Given the description of an element on the screen output the (x, y) to click on. 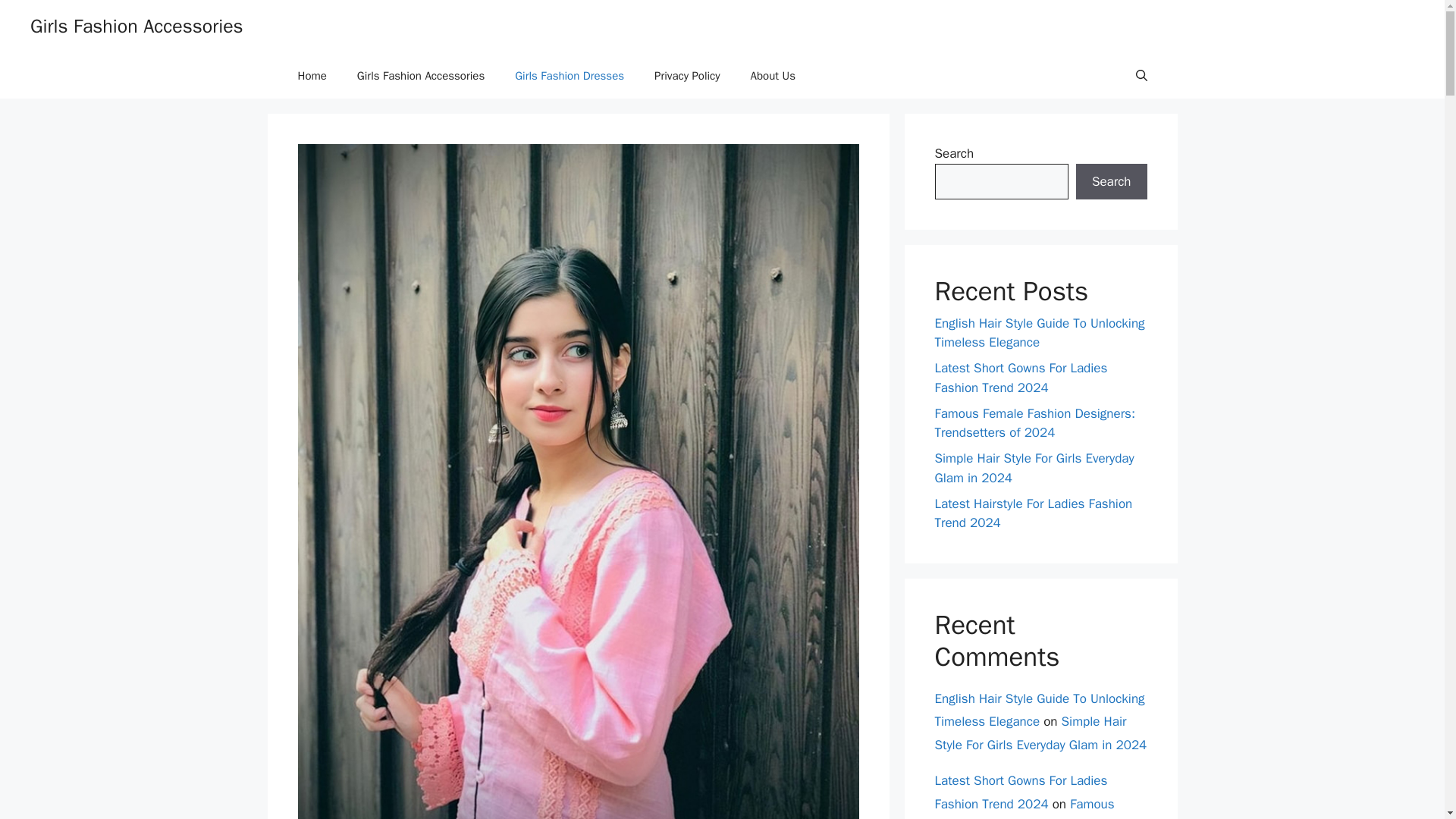
Girls Fashion Accessories (136, 25)
Girls Fashion Dresses (569, 75)
Privacy Policy (687, 75)
About Us (772, 75)
Home (311, 75)
Girls Fashion Accessories (420, 75)
